Given the description of an element on the screen output the (x, y) to click on. 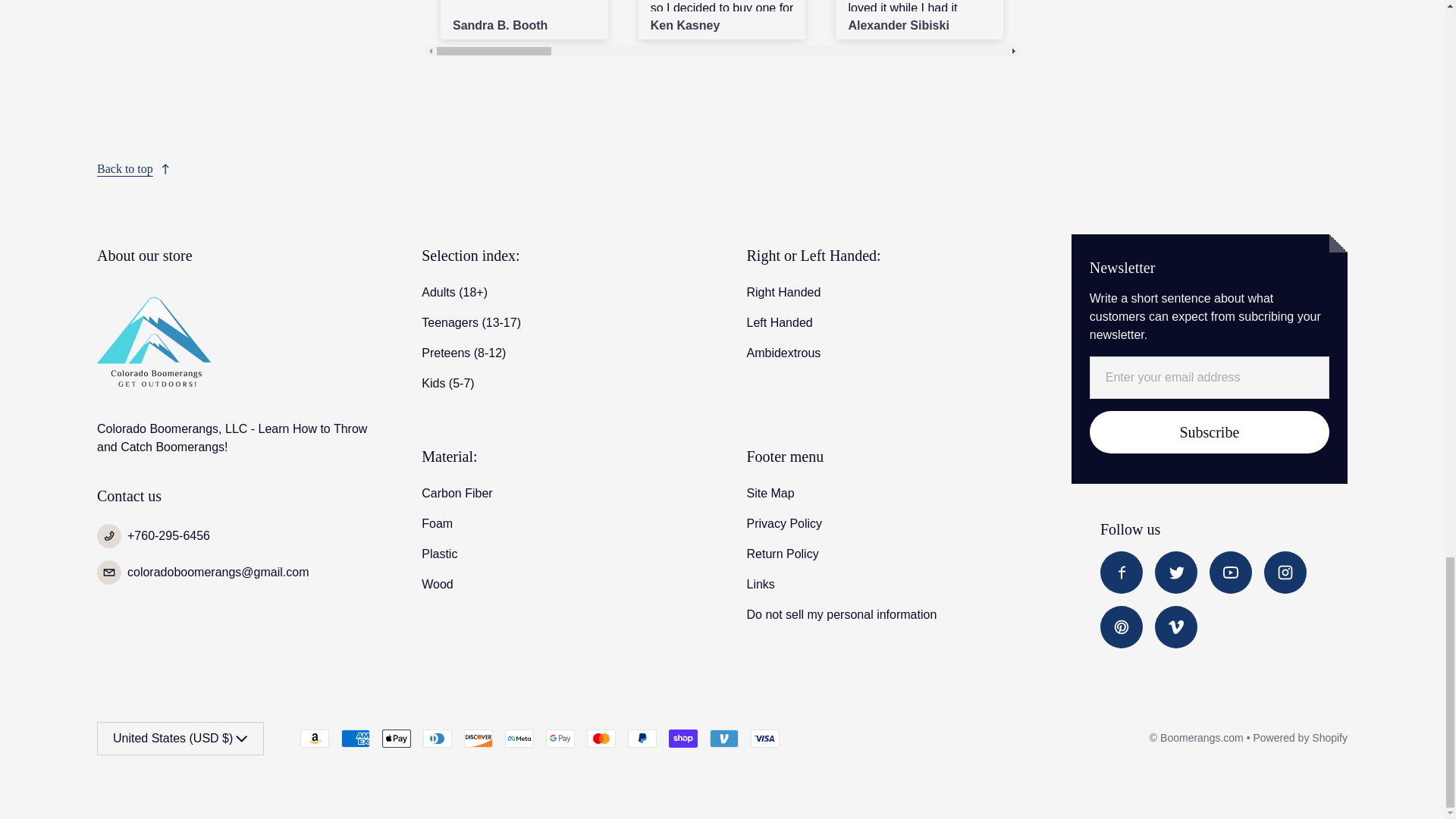
Youtube (1230, 572)
Twitter (1175, 572)
Instagram (1284, 572)
Pinterest (1121, 627)
Vimeo (1175, 627)
